Given the description of an element on the screen output the (x, y) to click on. 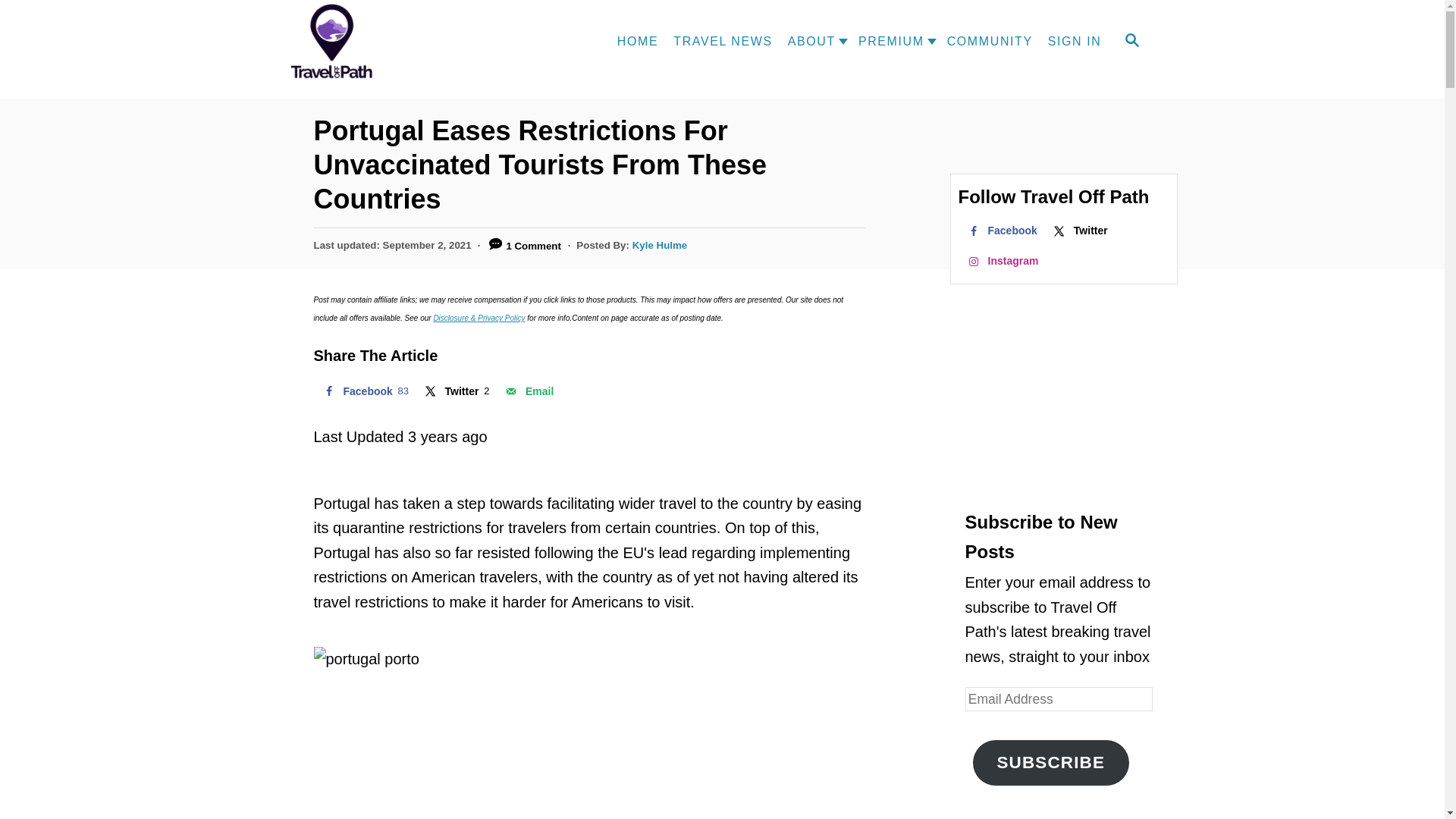
HOME (637, 41)
Share on X (455, 390)
ABOUT (807, 41)
Send over email (528, 390)
Kyle Hulme (659, 244)
SEARCH (1131, 40)
Email (528, 390)
Follow on Facebook (1000, 230)
COMMUNITY (990, 41)
PREMIUM (887, 41)
